Given the description of an element on the screen output the (x, y) to click on. 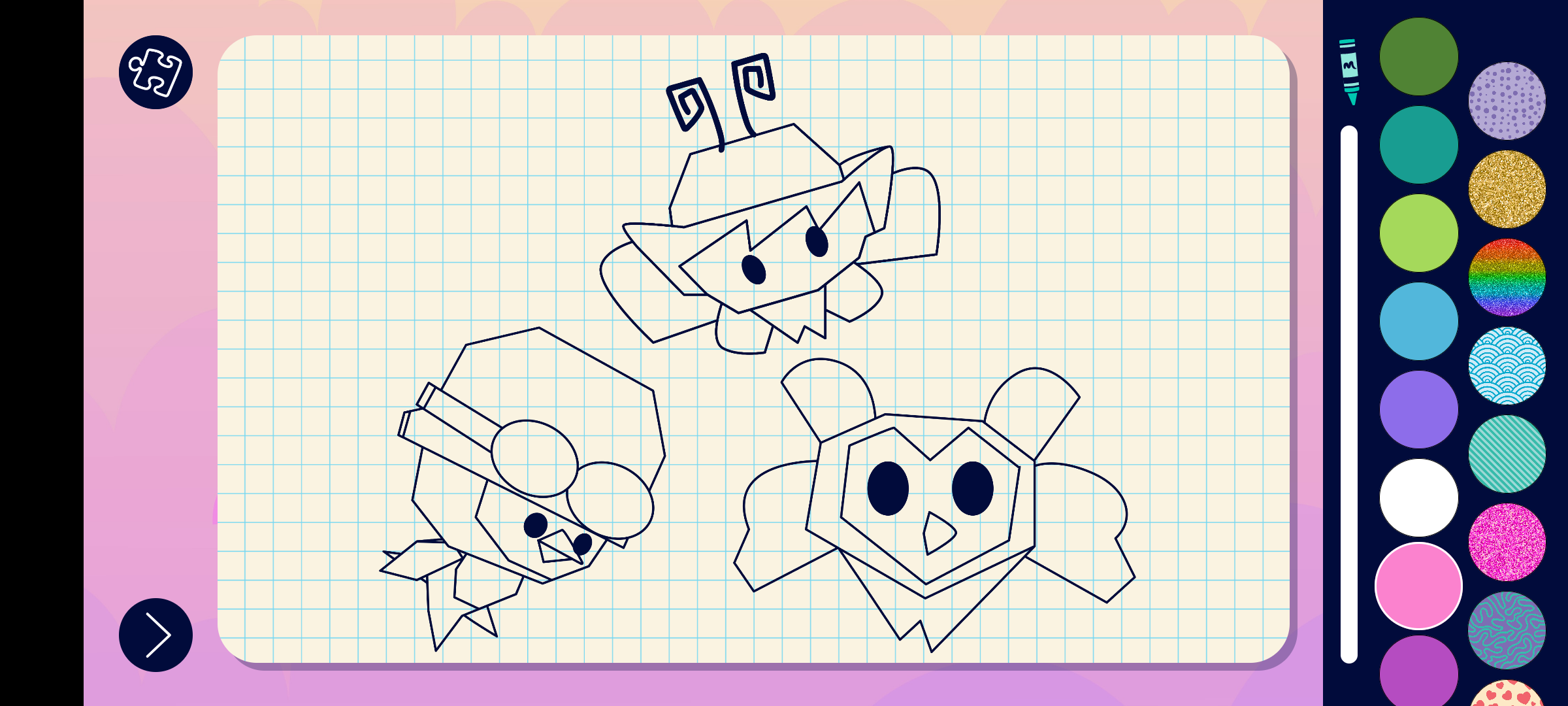
coloring background (1507, 101)
coloring background (1507, 189)
coloring background (1507, 277)
coloring background (1507, 365)
coloring background (1507, 454)
coloring background (1507, 542)
coloring background (1507, 630)
